Given the description of an element on the screen output the (x, y) to click on. 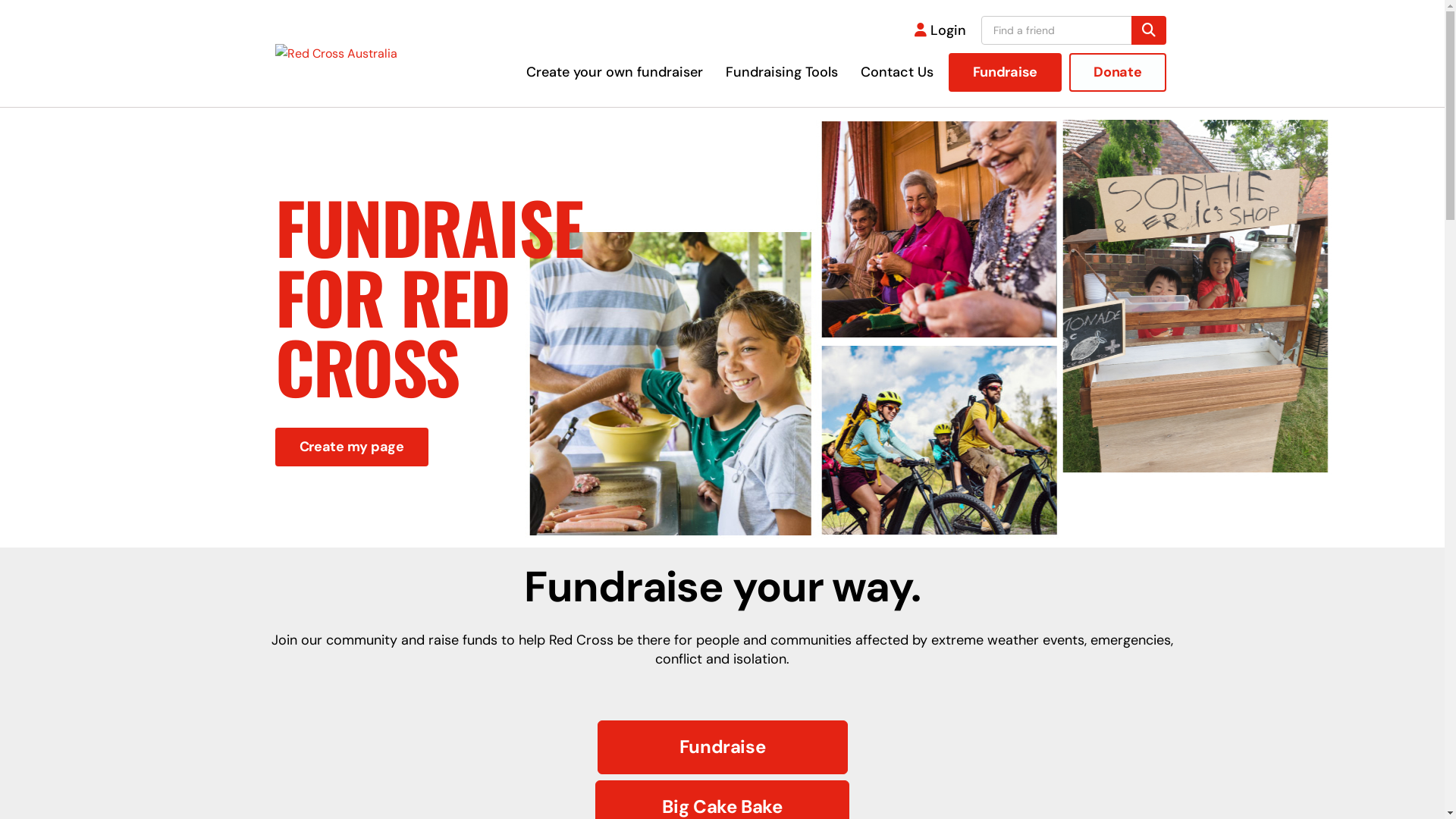
Donate Element type: text (1117, 72)
Fundraise Element type: text (1005, 72)
Fundraising Tools Element type: text (781, 72)
Login Element type: text (940, 30)
Create my page Element type: text (350, 446)
Create your own fundraiser Element type: text (614, 72)
Contact Us Element type: text (896, 72)
